Given the description of an element on the screen output the (x, y) to click on. 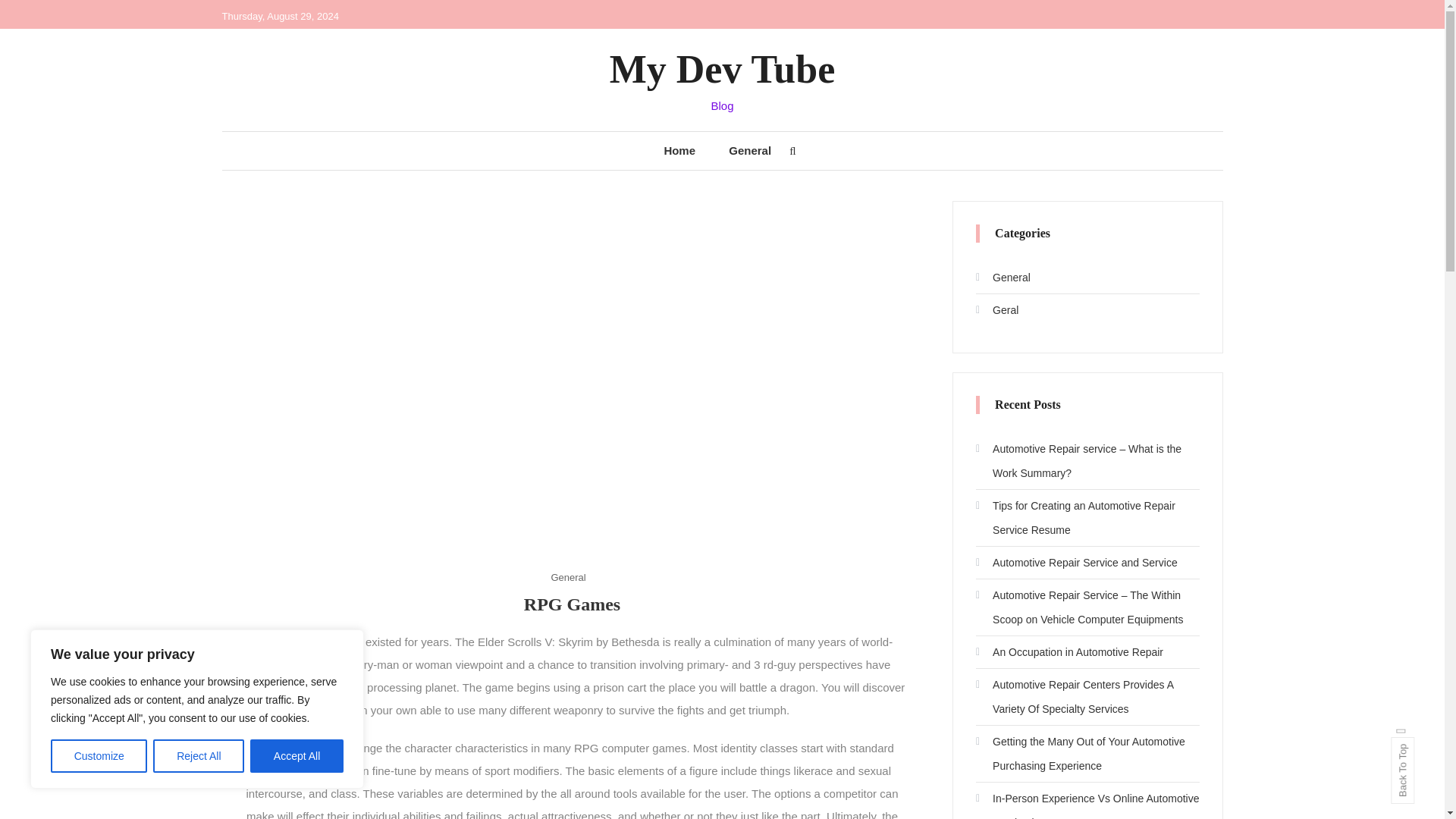
Reject All (198, 756)
My Dev Tube (722, 68)
Home (678, 150)
Geral (996, 310)
General (1002, 277)
General (567, 577)
Accept All (296, 756)
Customize (98, 756)
General (749, 150)
